Given the description of an element on the screen output the (x, y) to click on. 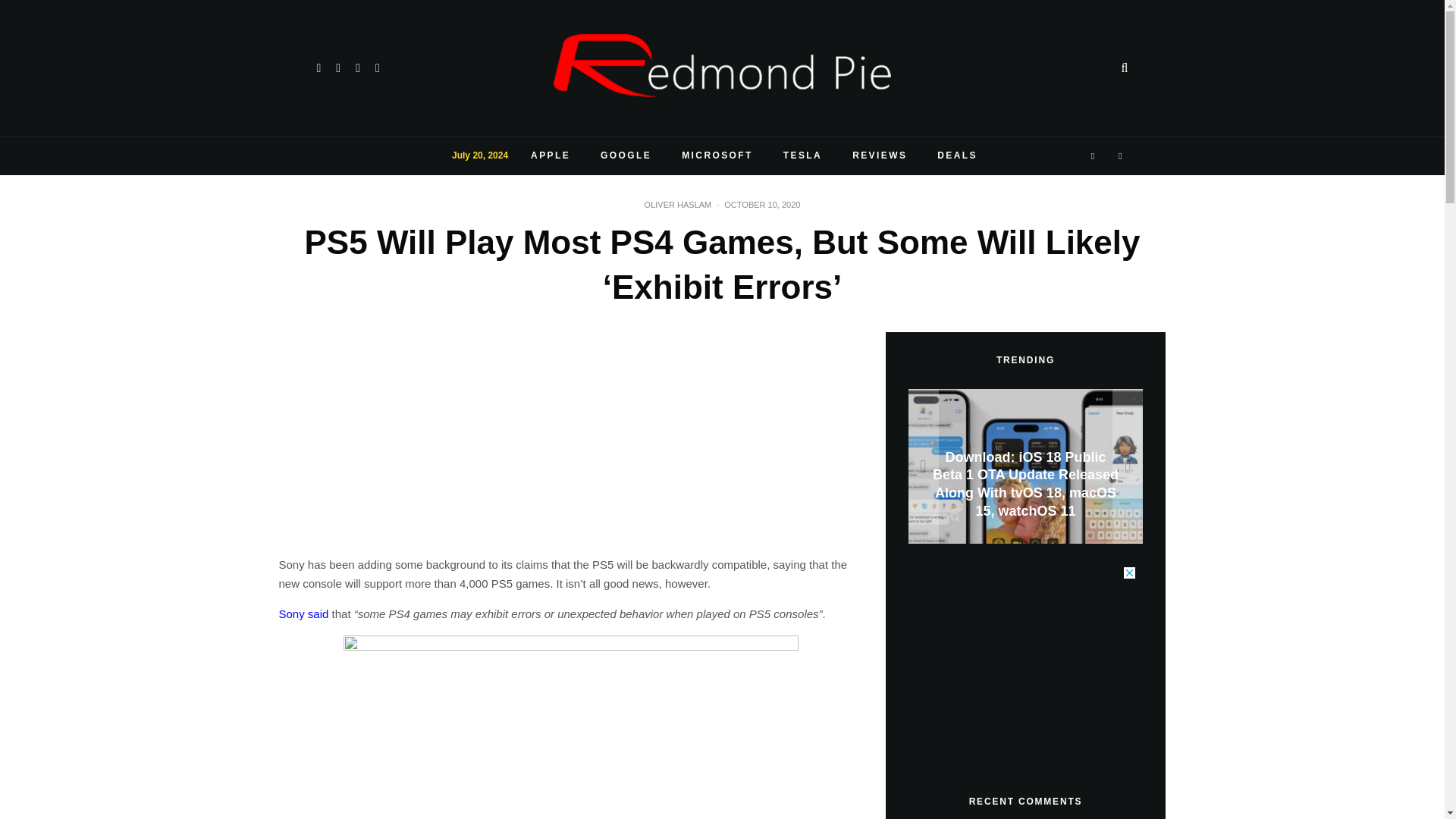
3rd party ad content (1021, 660)
TESLA (802, 156)
APPLE (550, 156)
MICROSOFT (717, 156)
GOOGLE (625, 156)
